Given the description of an element on the screen output the (x, y) to click on. 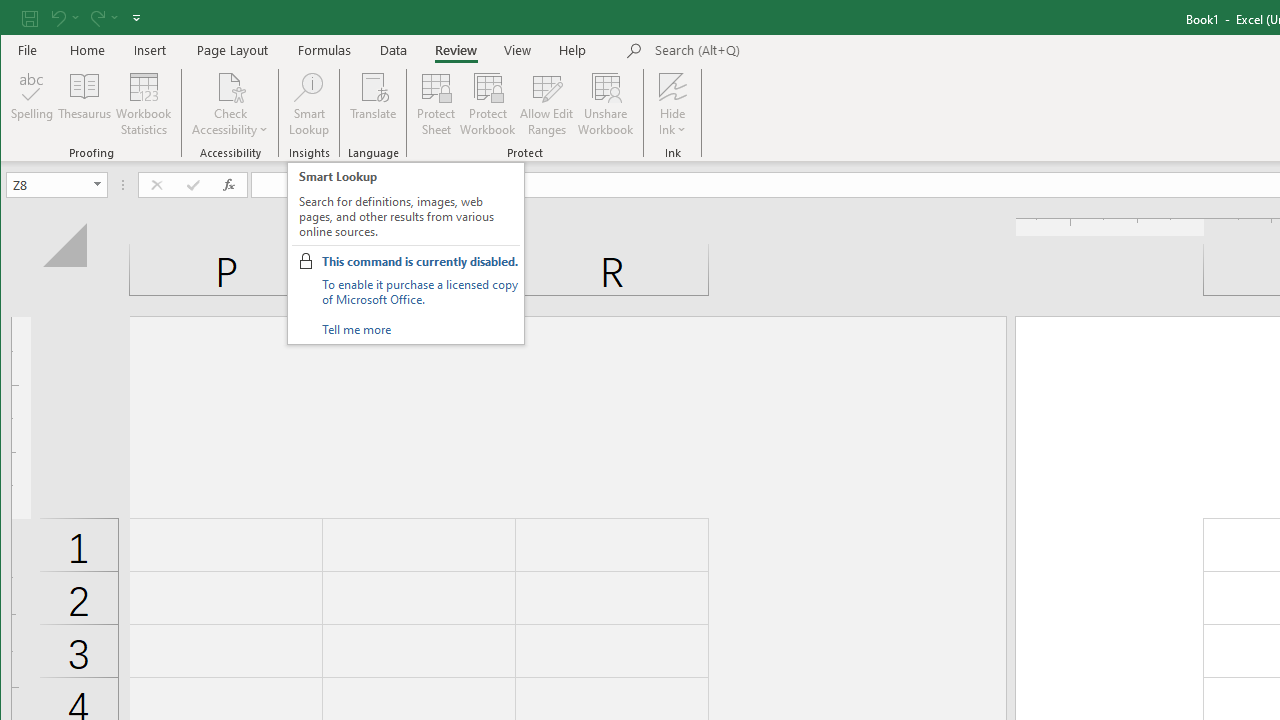
Spelling... (32, 104)
Insert (150, 50)
View (518, 50)
Protect Sheet... (436, 104)
Translate (373, 104)
Review (456, 50)
Data (394, 50)
Workbook Statistics (143, 104)
File Tab (28, 49)
Unshare Workbook (606, 104)
